Given the description of an element on the screen output the (x, y) to click on. 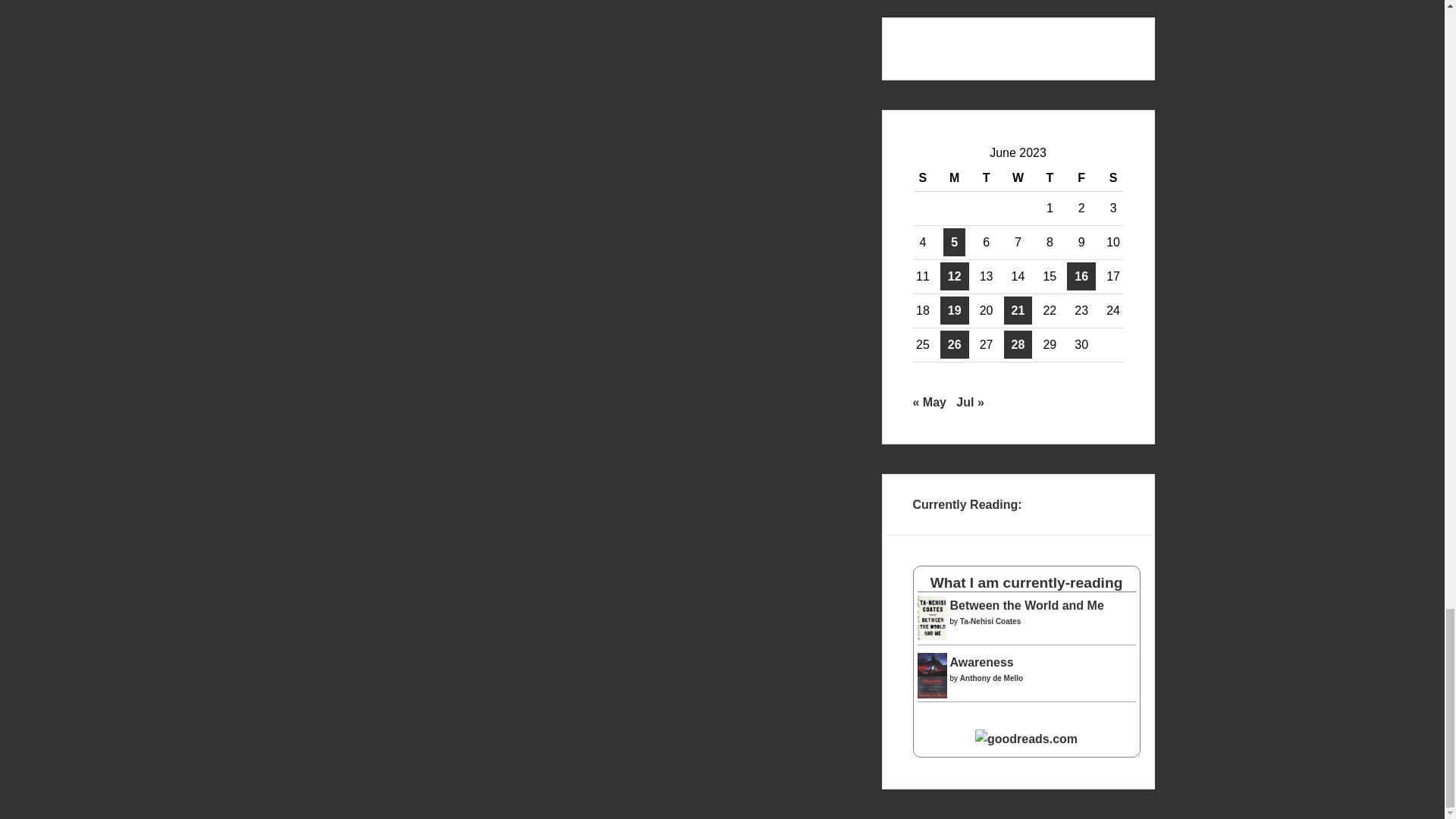
Awareness (932, 694)
Wednesday (1017, 178)
Friday (1081, 178)
Between the World and Me (932, 635)
Monday (954, 178)
